Given the description of an element on the screen output the (x, y) to click on. 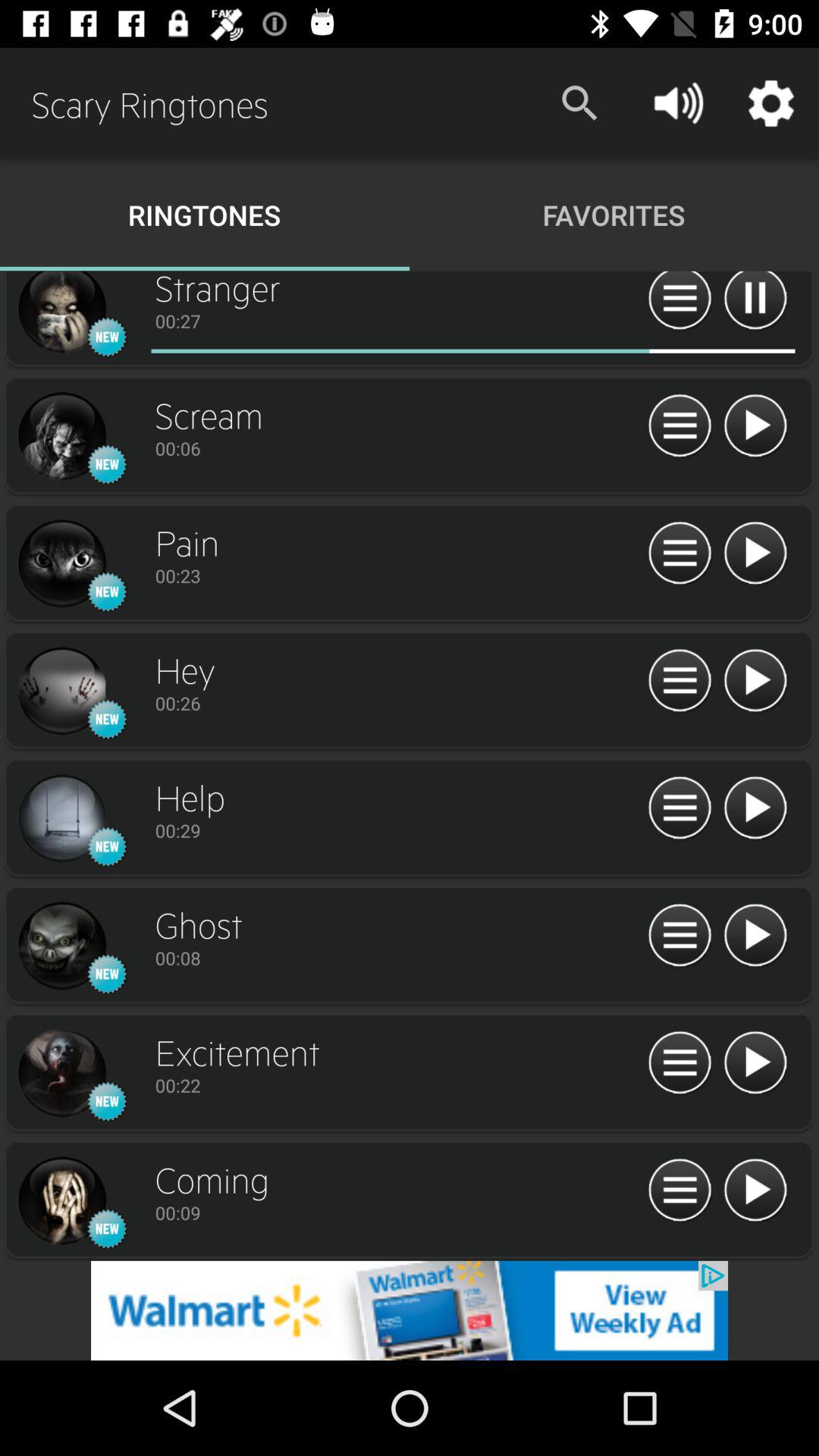
select the image (61, 314)
